Given the description of an element on the screen output the (x, y) to click on. 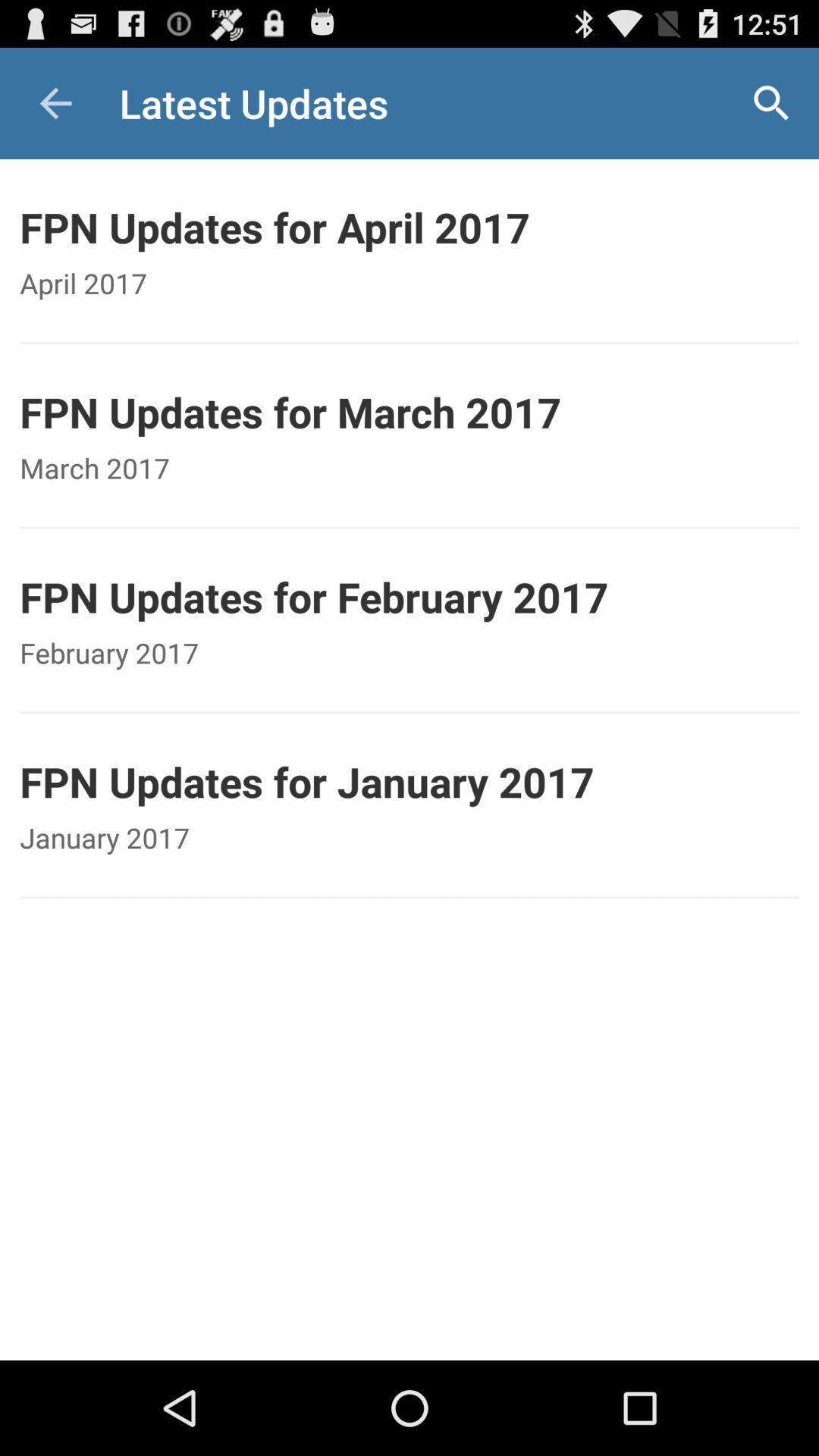
open the icon to the left of latest updates app (55, 103)
